Given the description of an element on the screen output the (x, y) to click on. 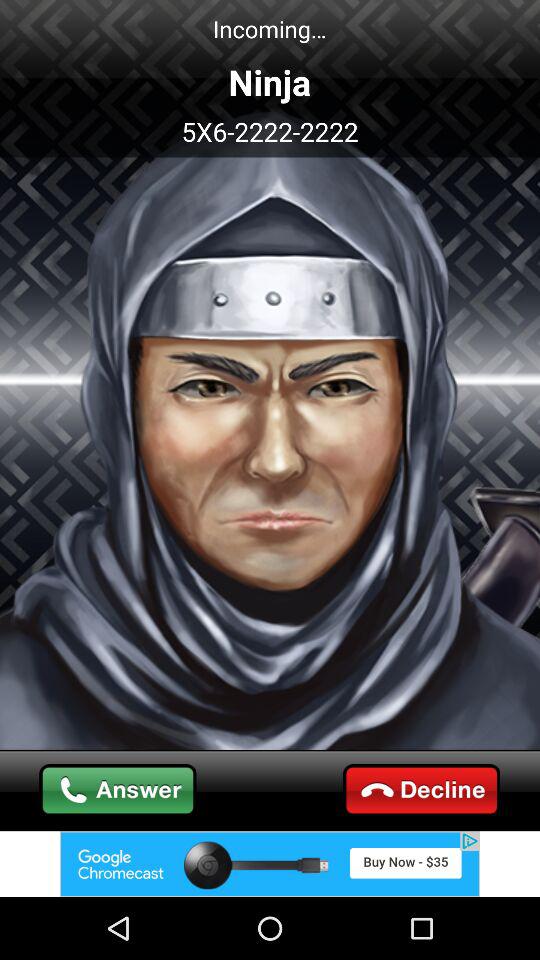
advertisement (270, 864)
